Given the description of an element on the screen output the (x, y) to click on. 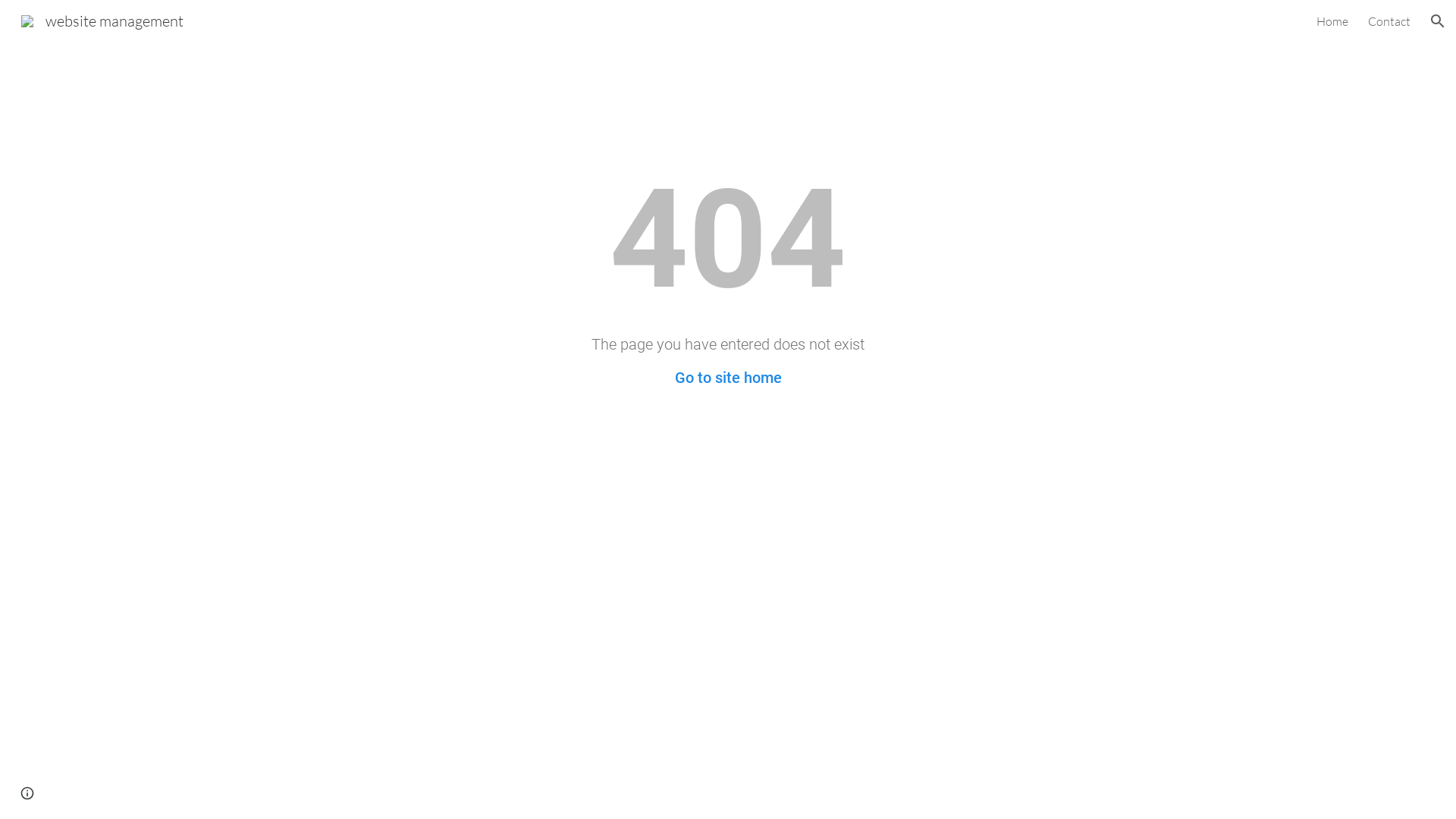
website management Element type: text (102, 18)
Contact Element type: text (1389, 20)
Home Element type: text (1332, 20)
Go to site home Element type: text (727, 377)
